Given the description of an element on the screen output the (x, y) to click on. 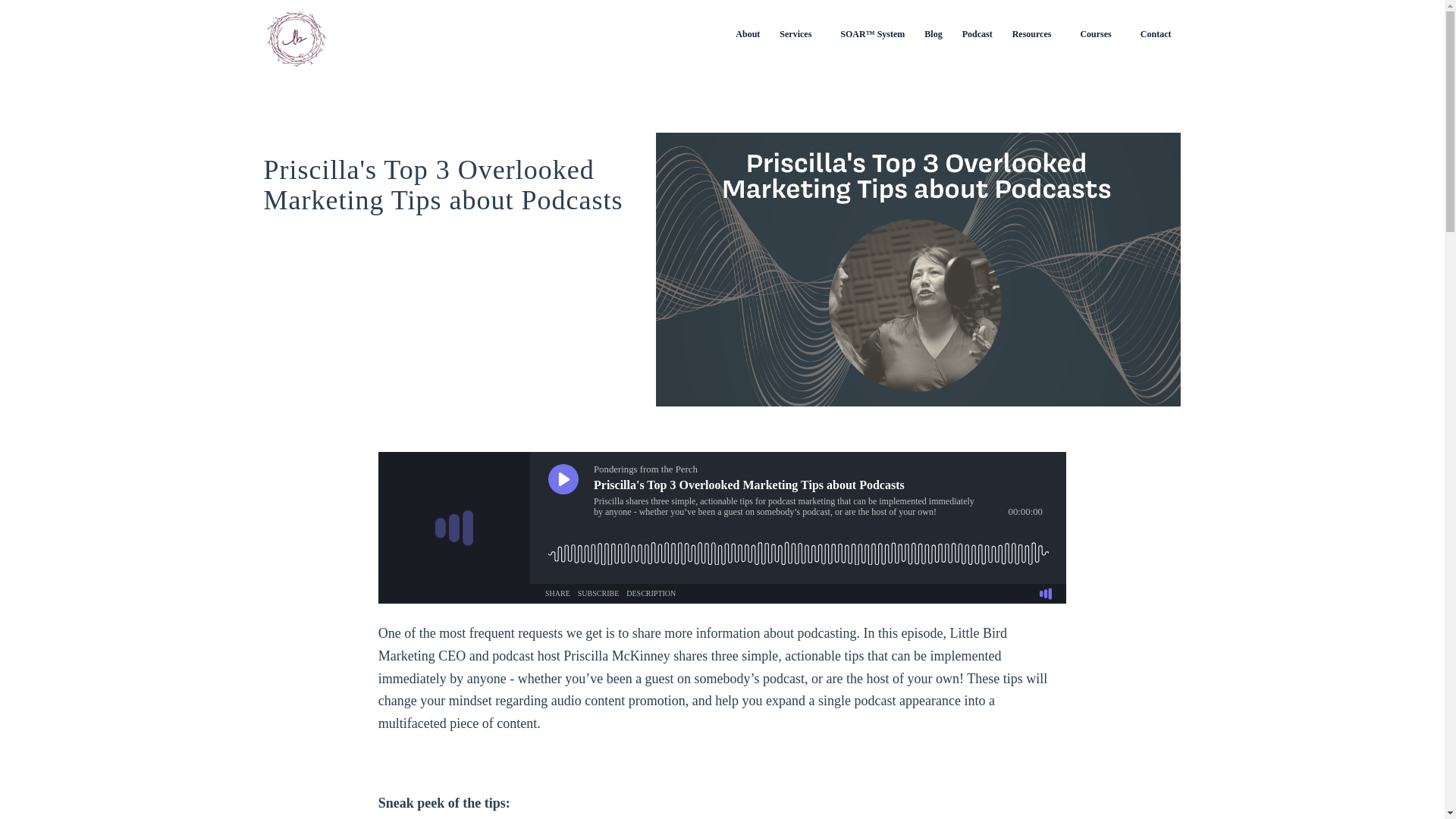
Little Bird Marketing (296, 33)
